Given the description of an element on the screen output the (x, y) to click on. 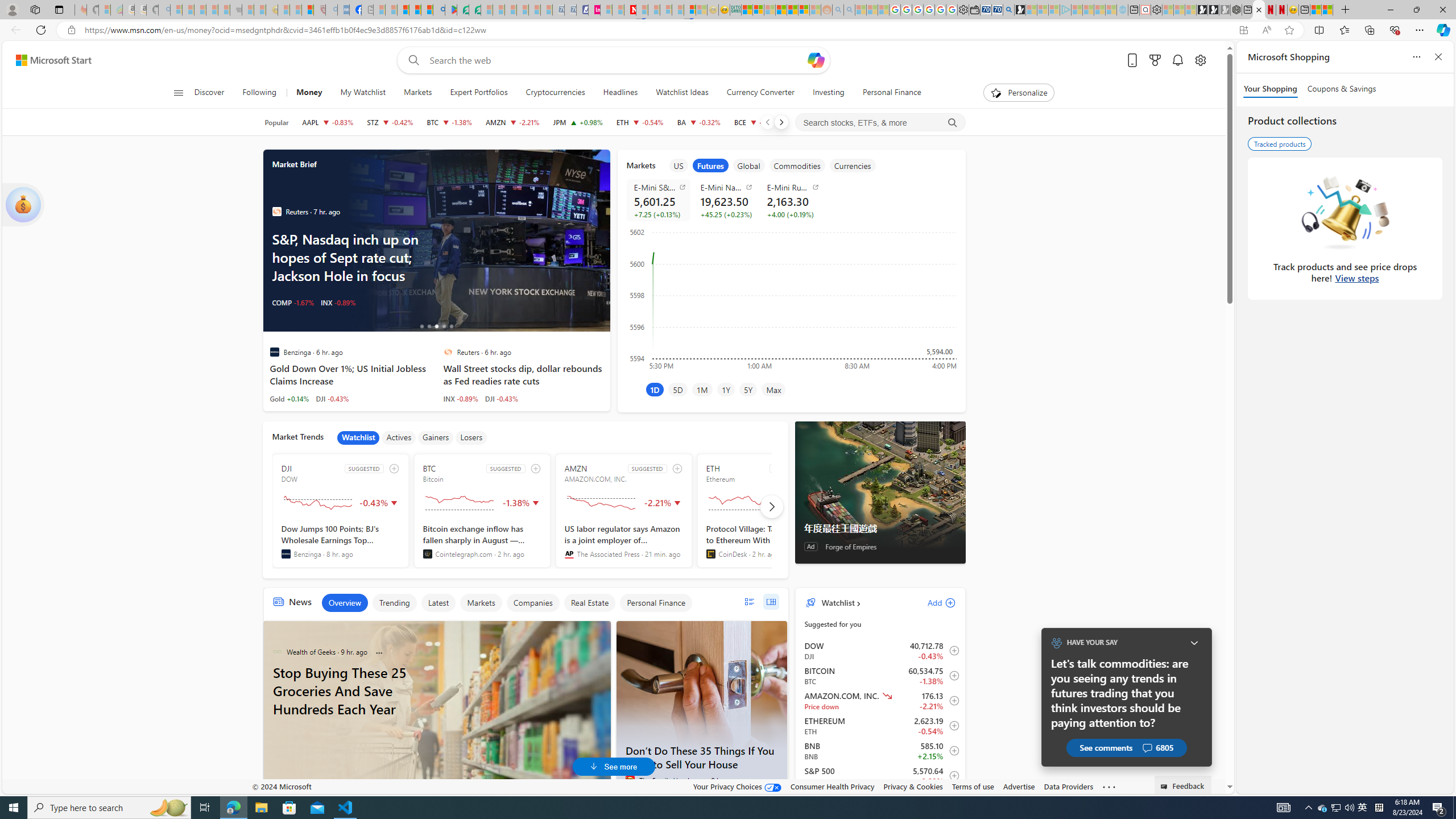
Expert Portfolios (478, 92)
Popular (276, 121)
Cointelegraph.com (427, 553)
Local - MSN (307, 9)
item4 (796, 164)
Search stocks, ETFs, & more (880, 122)
